Given the description of an element on the screen output the (x, y) to click on. 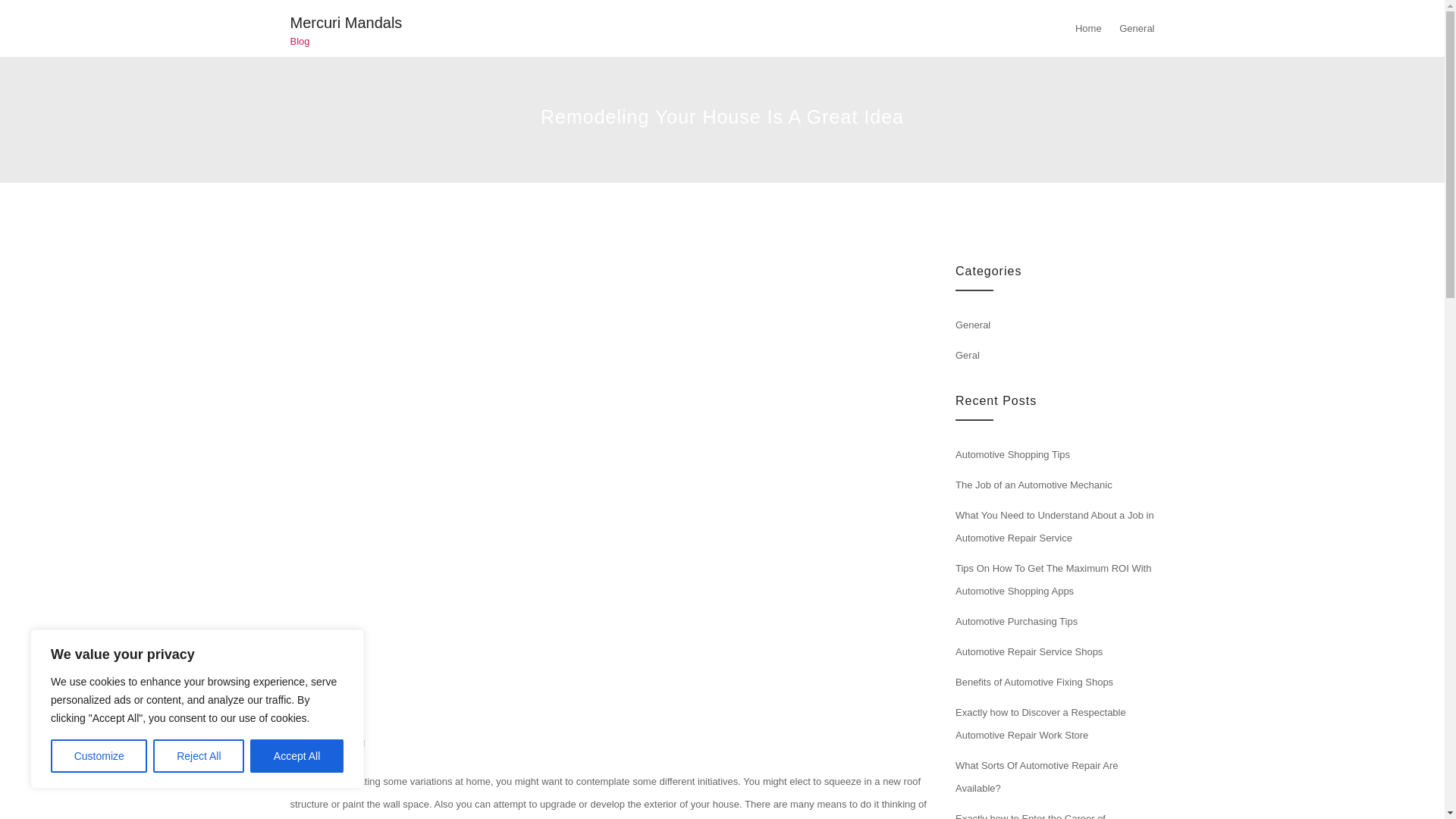
Automotive Repair Service Shops (1028, 651)
Mercuri Mandals (345, 22)
General (347, 743)
Automotive Shopping Tips (1012, 454)
The Job of an Automotive Mechanic (1033, 484)
General (972, 324)
Automotive Purchasing Tips (1016, 621)
Customize (98, 756)
